Given the description of an element on the screen output the (x, y) to click on. 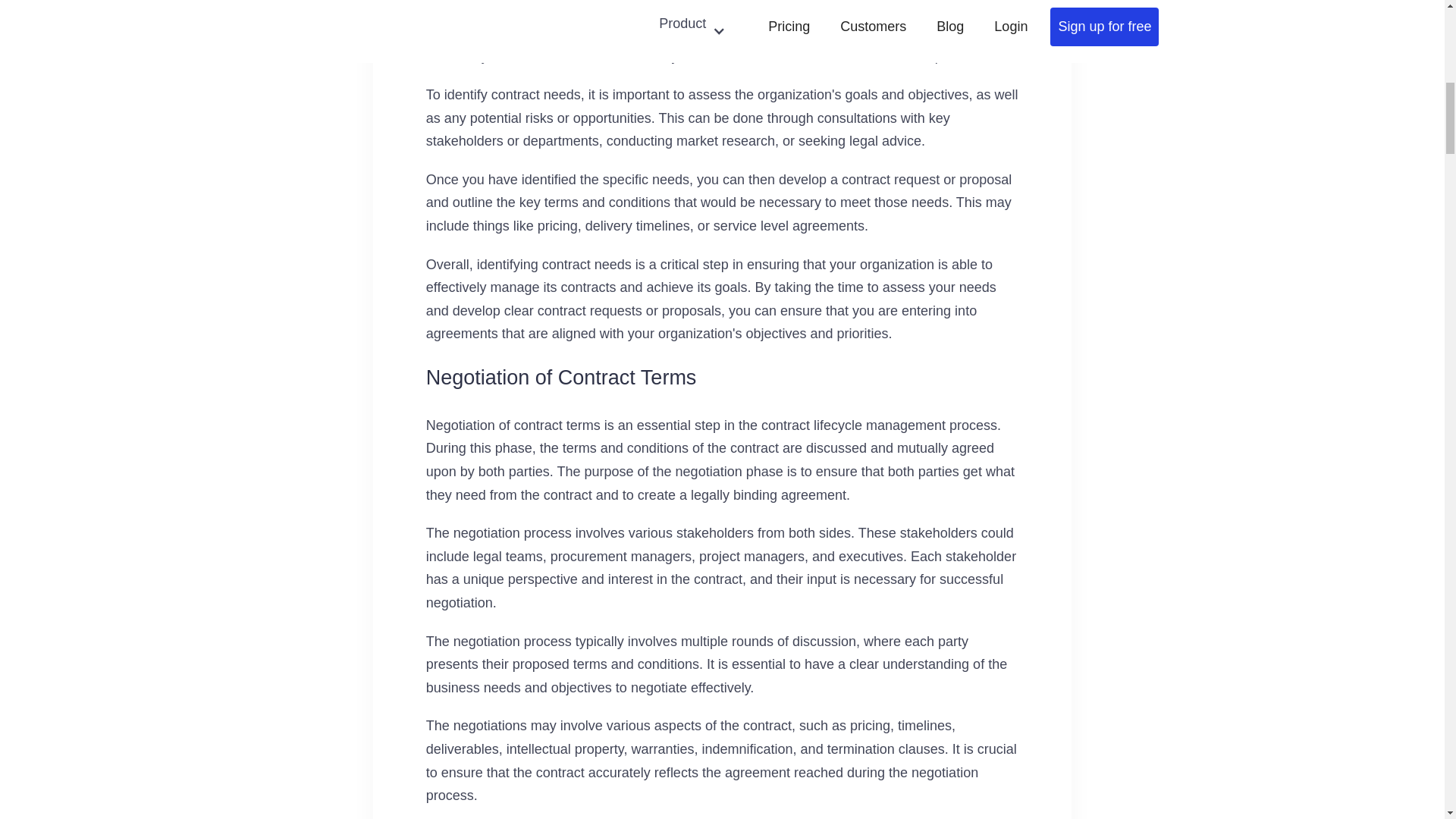
lifecycle management (828, 9)
